Given the description of an element on the screen output the (x, y) to click on. 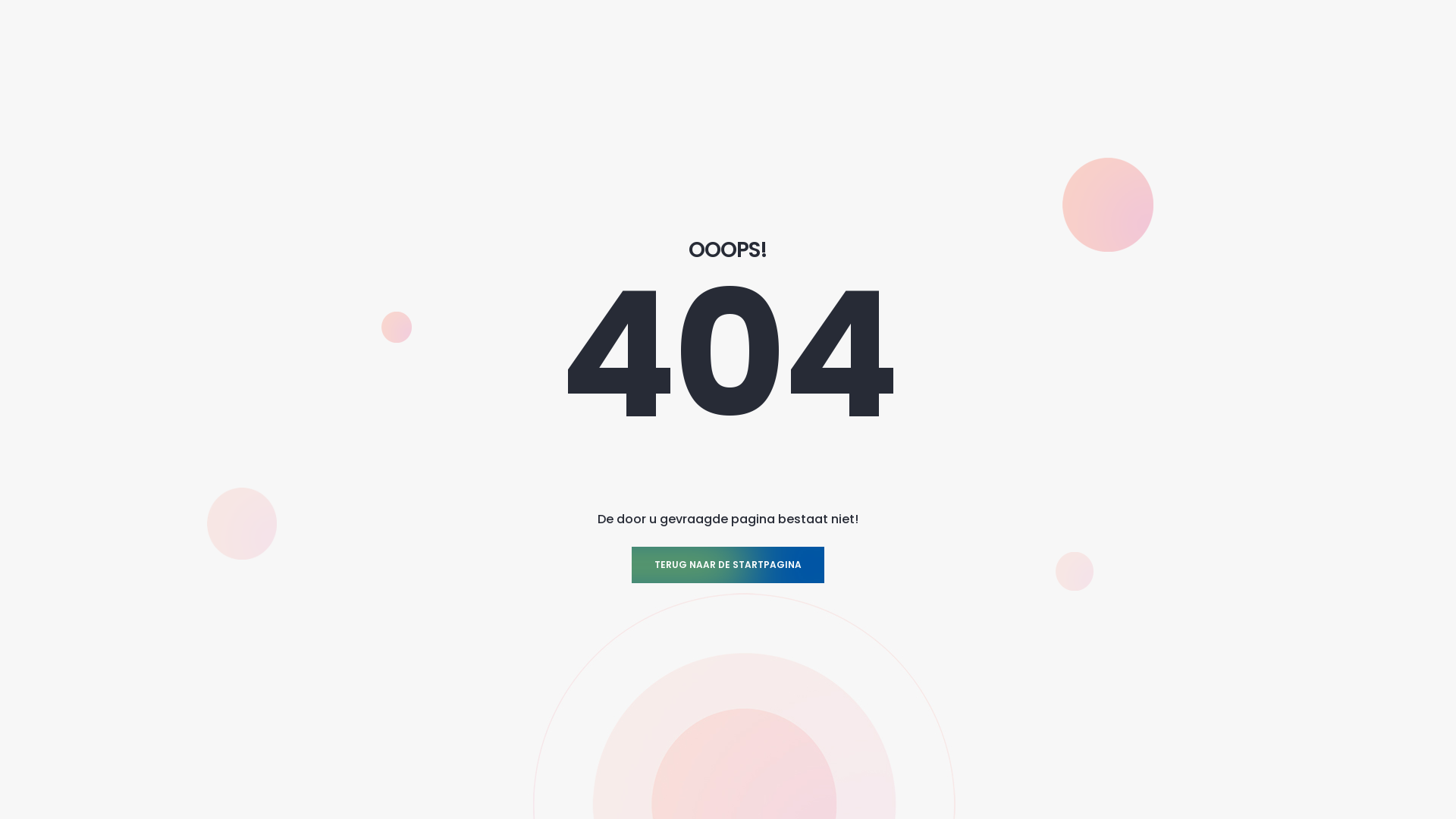
img-71.png Element type: hover (396, 326)
img-71.png Element type: hover (1107, 204)
img-71.png Element type: hover (241, 523)
img-71.png Element type: hover (1074, 571)
TERUG NAAR DE STARTPAGINA Element type: text (727, 564)
